Given the description of an element on the screen output the (x, y) to click on. 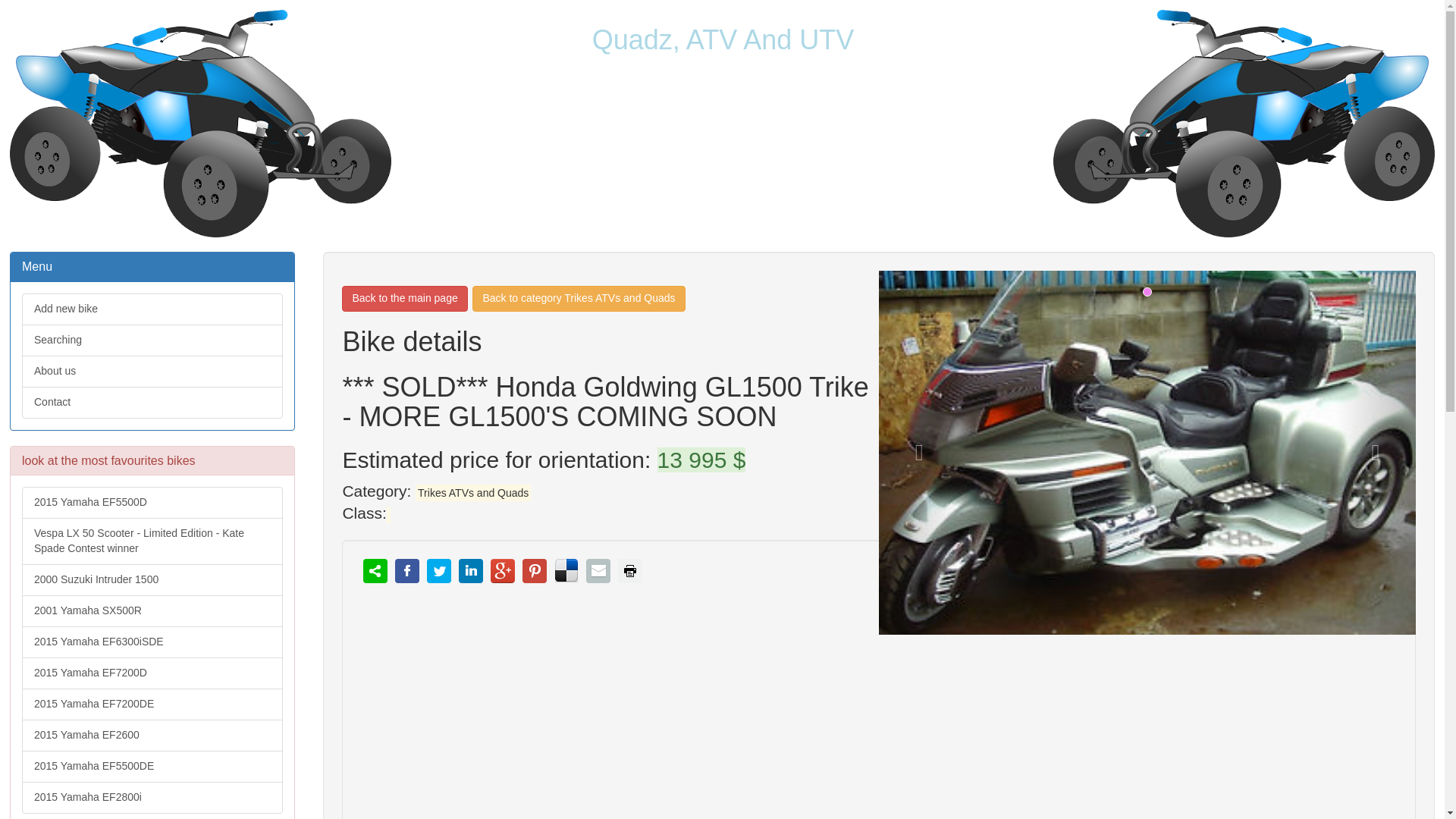
2015 Yamaha EF7200DE (151, 704)
2015 Yamaha EF7200D (151, 673)
2015 Yamaha EF6300iSDE (151, 642)
Add new bike (151, 309)
2001 Yamaha SX500R (151, 611)
About us (151, 371)
2015 Yamaha EF2600 (151, 735)
Back to the main page (404, 298)
2015 Yamaha EF5500DE (151, 766)
